Given the description of an element on the screen output the (x, y) to click on. 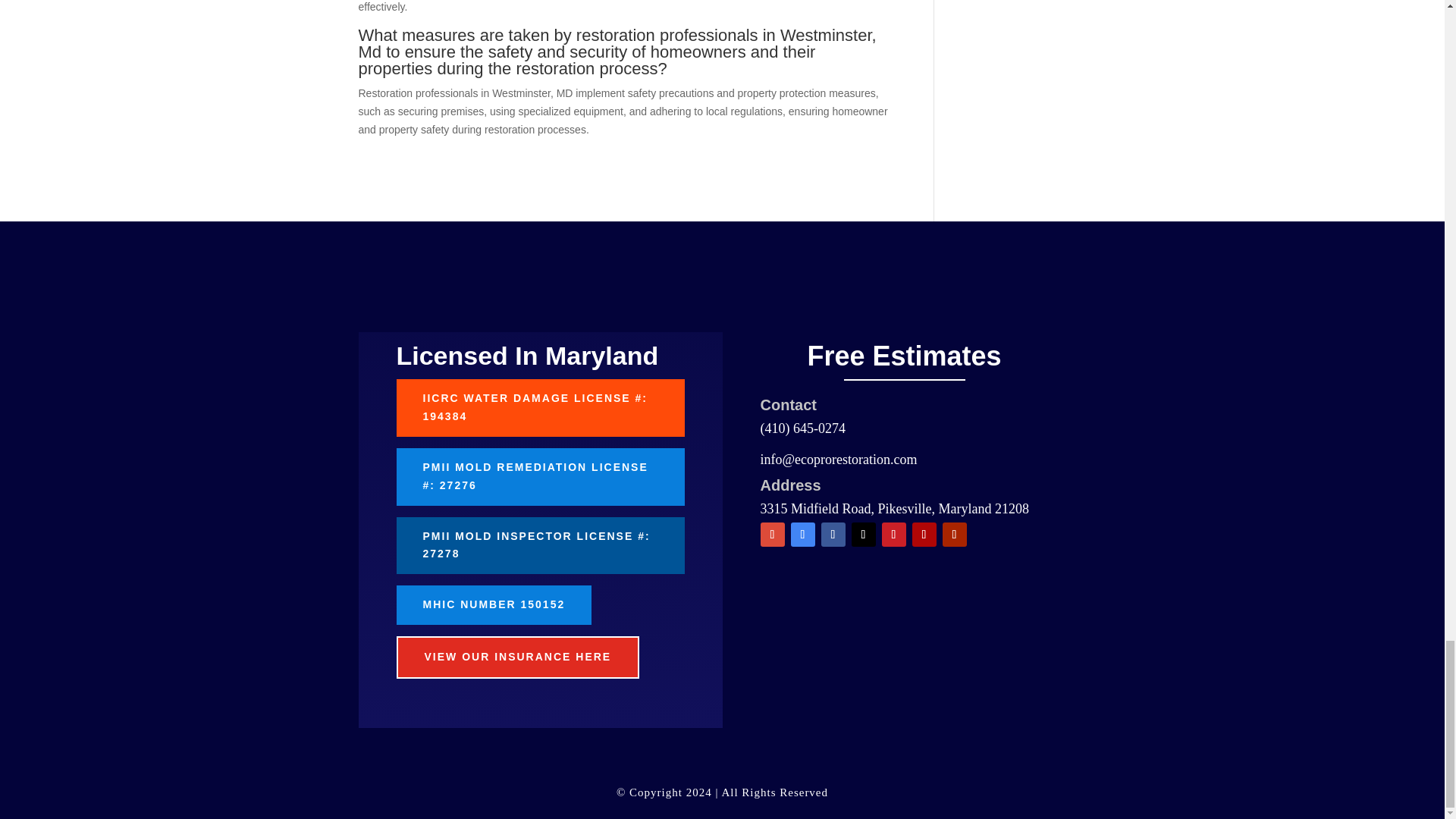
Follow on Pinterest (892, 534)
Follow on X (862, 534)
Follow on Google (801, 534)
Follow on Facebook (832, 534)
Follow on Yelp (923, 534)
Follow on google-plus (772, 534)
